Given the description of an element on the screen output the (x, y) to click on. 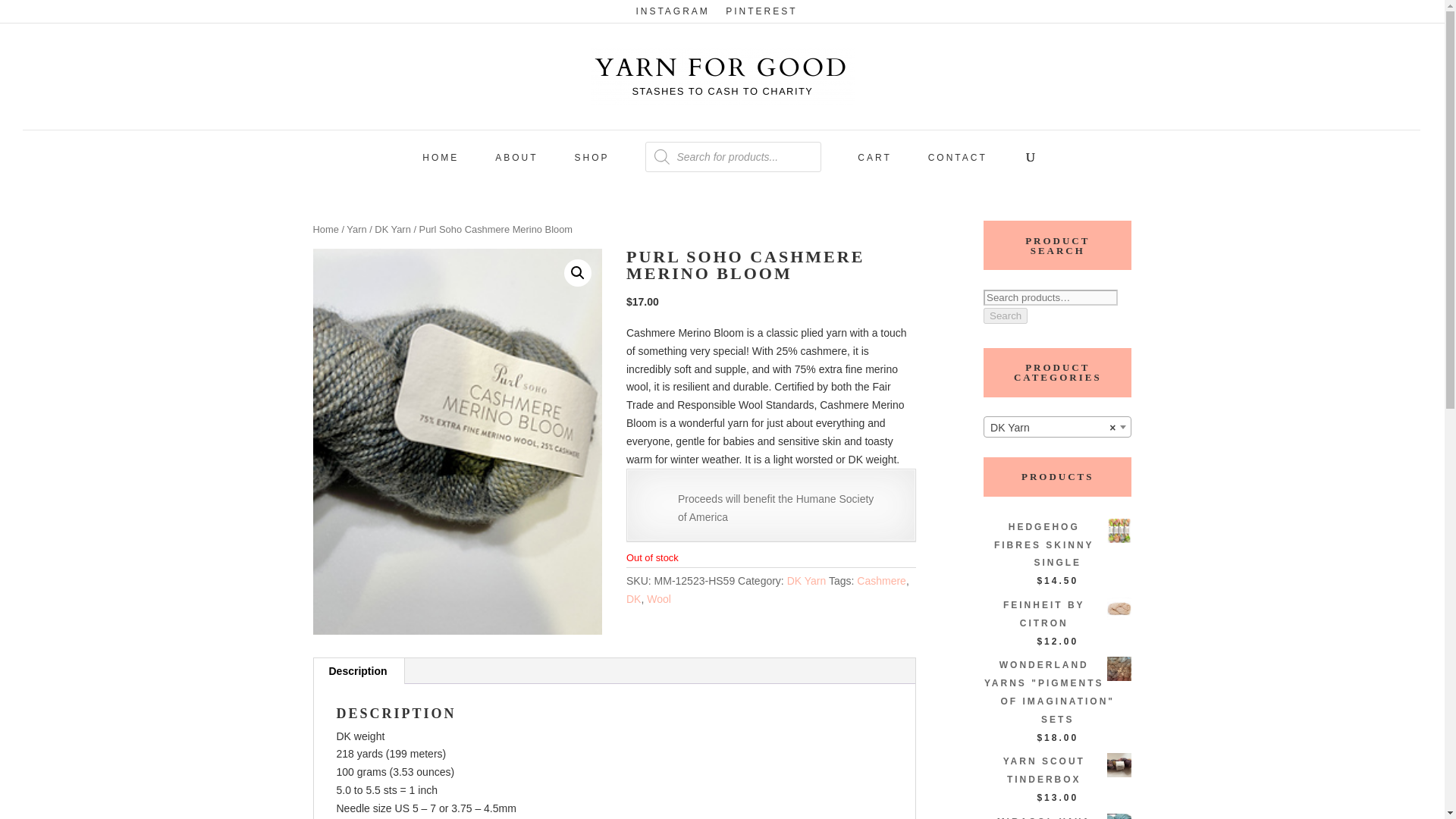
FEINHEIT BY CITRON (1057, 615)
DK Yarn (1057, 427)
WONDERLAND YARNS "PIGMENTS OF IMAGINATION" SETS (1057, 692)
ABOUT (516, 164)
HEDGEHOG FIBRES SKINNY SINGLE (1057, 545)
YARN SCOUT TINDERBOX (1057, 770)
DK Yarn (392, 229)
INSTAGRAM (671, 14)
MIRASOL YAYA (1057, 816)
CONTACT (957, 164)
Yarn (356, 229)
PINTEREST (760, 14)
SHOP (590, 164)
CART (874, 164)
HOME (440, 164)
